Given the description of an element on the screen output the (x, y) to click on. 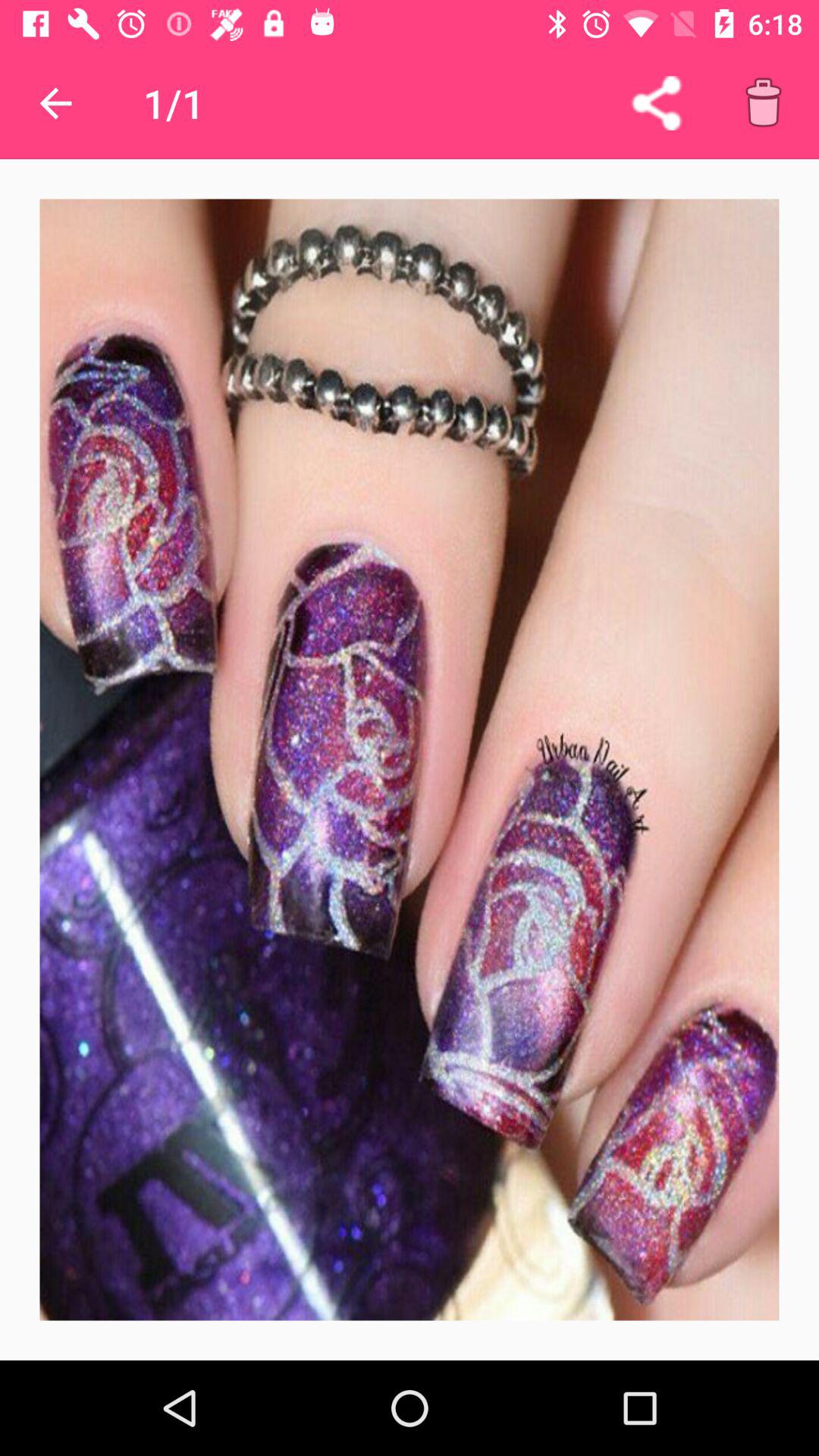
turn off item to the right of the 1/1 item (656, 103)
